Given the description of an element on the screen output the (x, y) to click on. 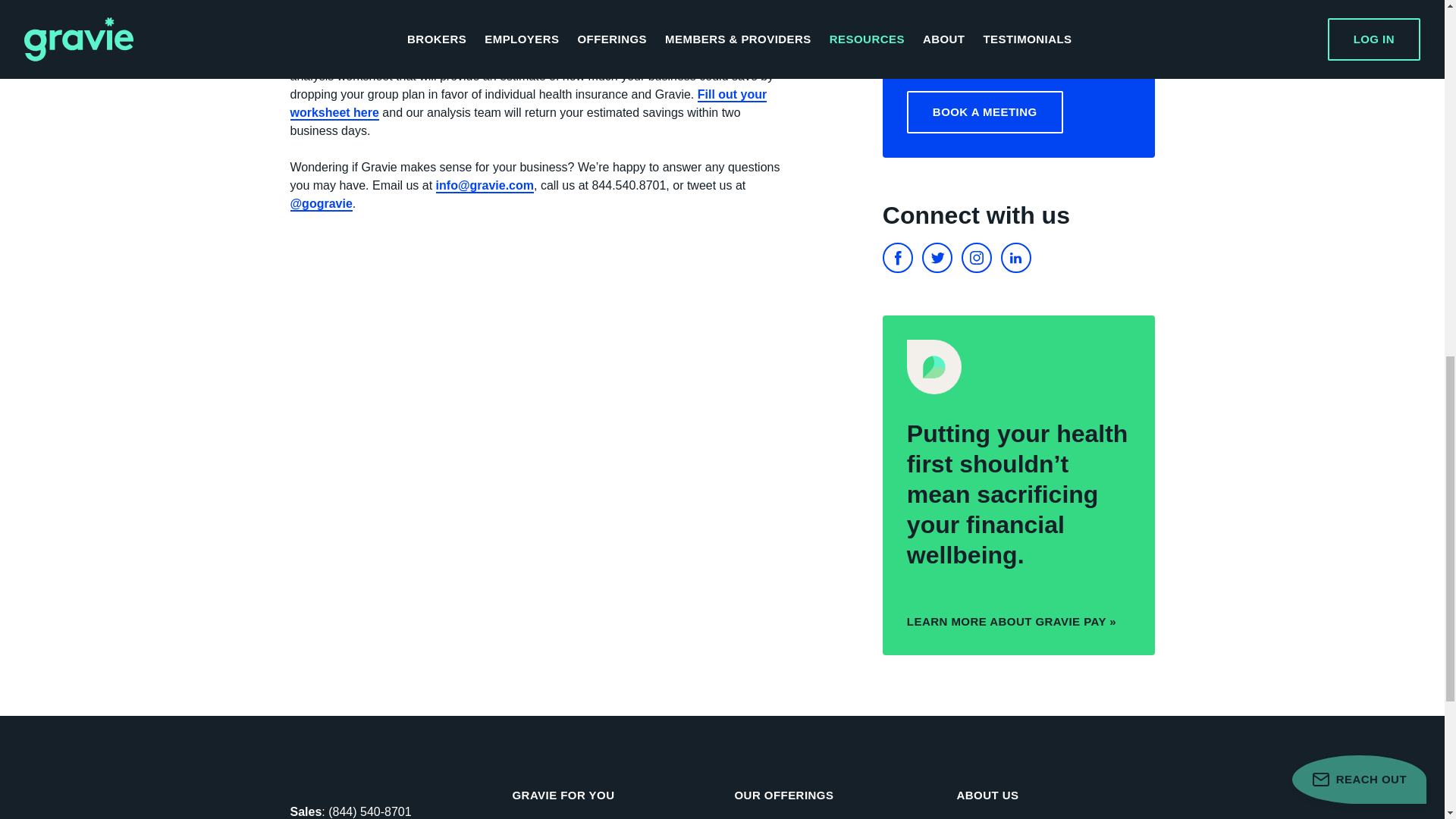
LEARN MORE ABOUT GRAVIE PAY (1011, 621)
Fill out your worksheet here (528, 103)
TWITTER (936, 257)
INSTAGRAM (975, 257)
FACEBOOK (897, 257)
LINKEDIN (1015, 257)
BOOK A MEETING (984, 111)
